Given the description of an element on the screen output the (x, y) to click on. 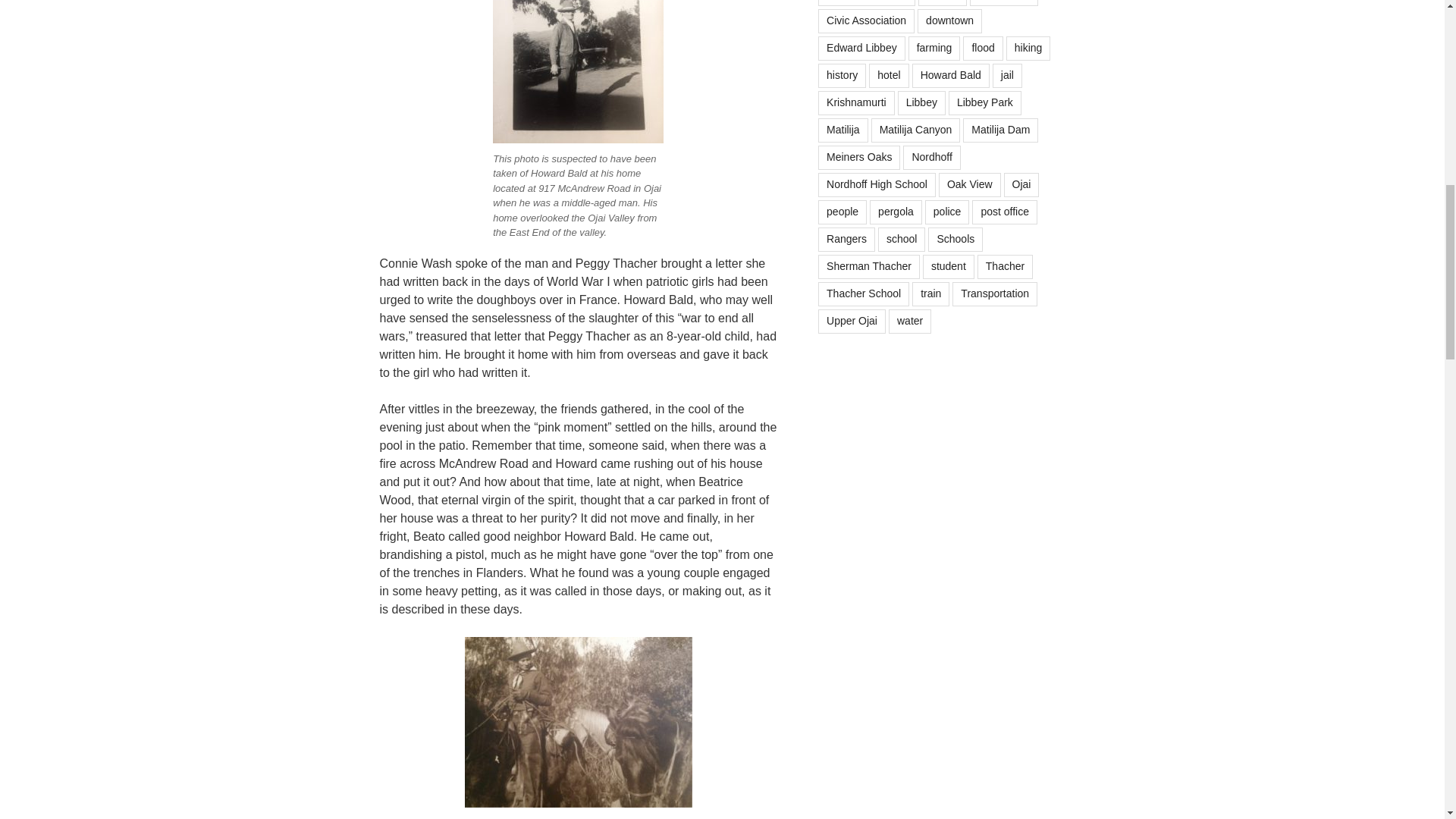
history (842, 75)
downtown (949, 21)
city council (1003, 2)
church (942, 2)
Libbey Park (985, 102)
Civic Association (866, 21)
Matilija (842, 129)
flood (982, 48)
farming (934, 48)
hotel (888, 75)
Edward Libbey (861, 48)
Charles Nordhoff (866, 2)
Howard Bald (951, 75)
hiking (1028, 48)
Libbey (921, 102)
